Given the description of an element on the screen output the (x, y) to click on. 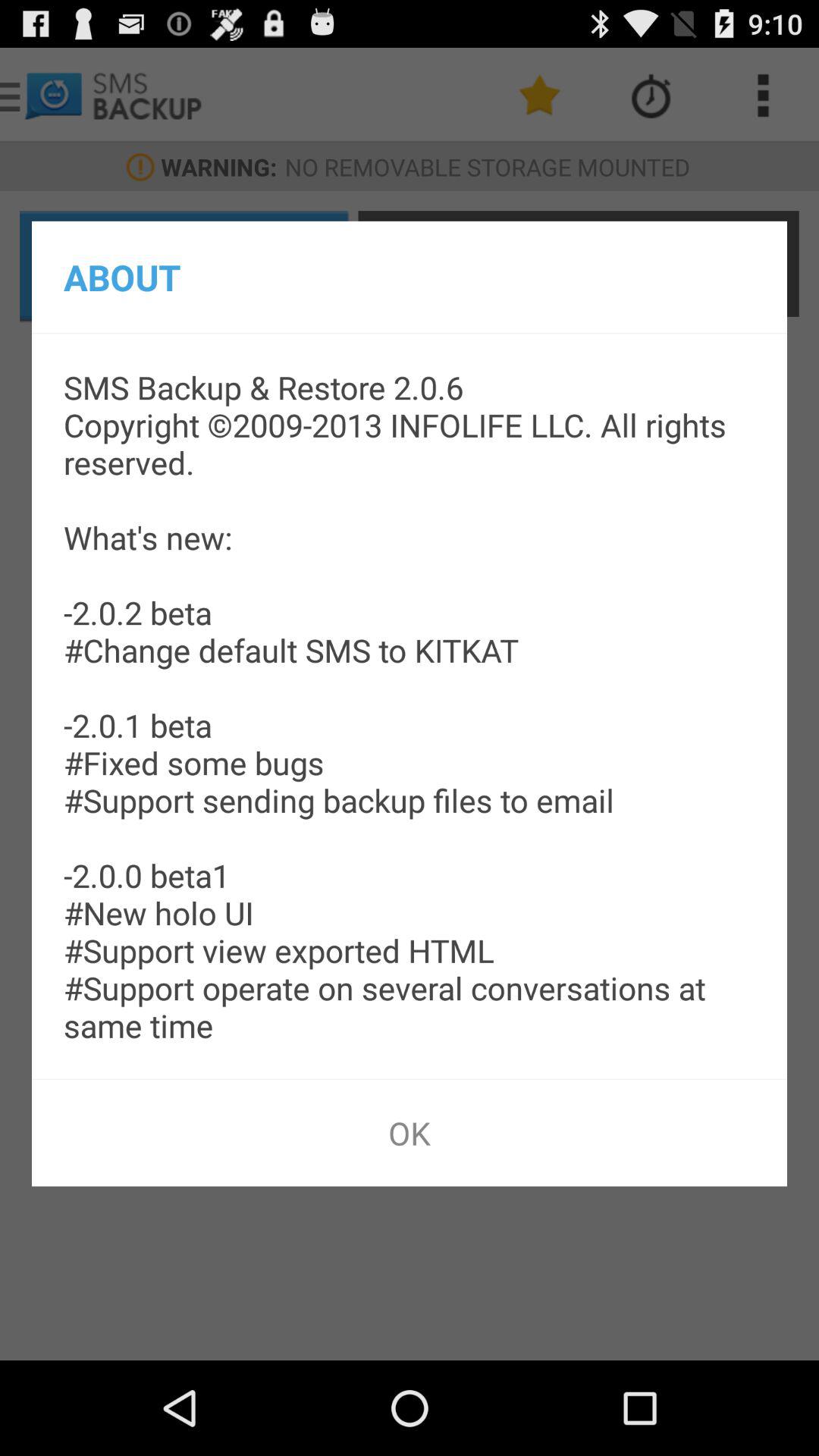
open the app at the center (409, 705)
